Given the description of an element on the screen output the (x, y) to click on. 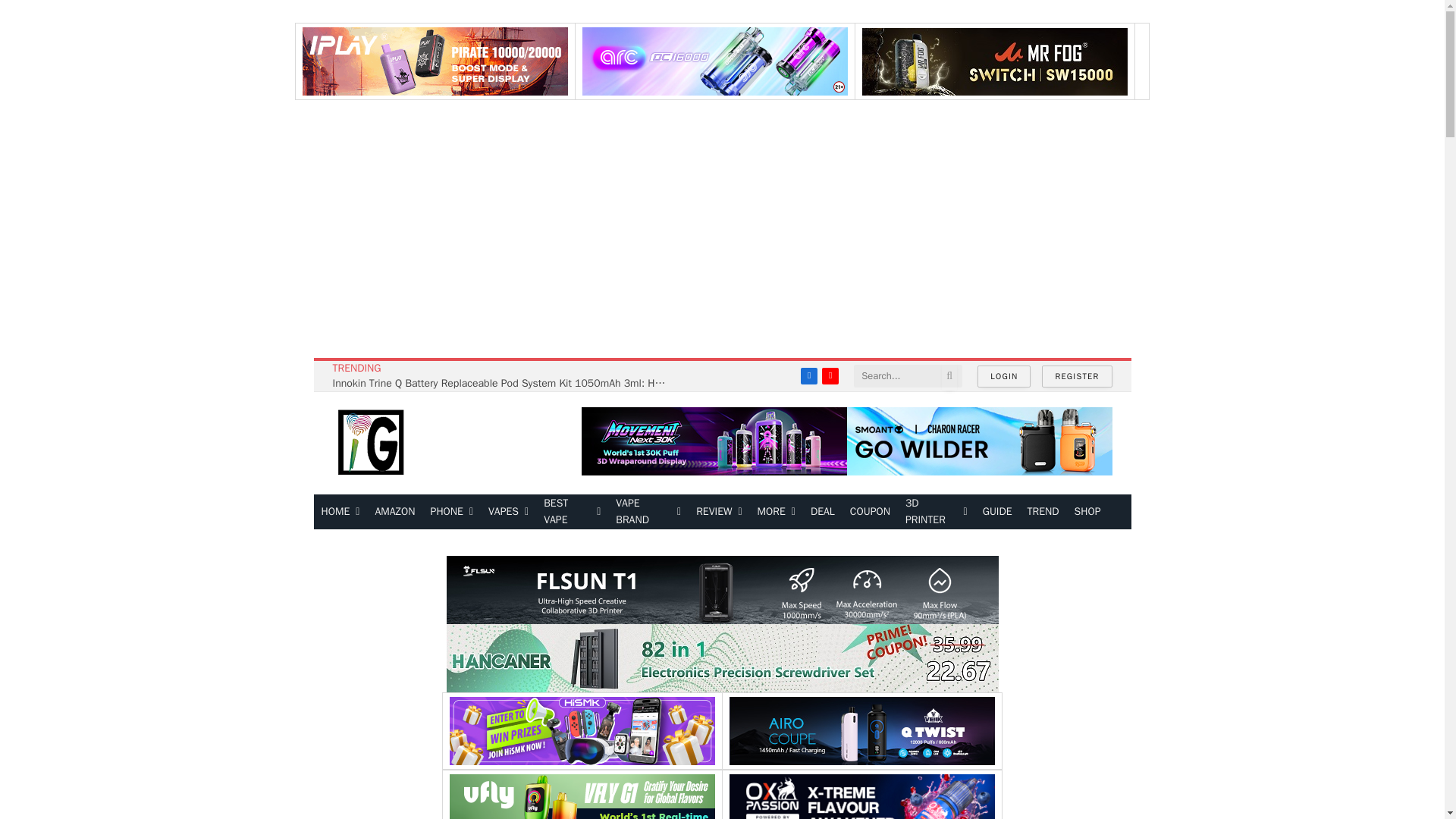
AMAZON (394, 511)
Facebook (808, 375)
YouTube (830, 375)
PHONE (451, 511)
HOME (341, 511)
REGISTER (1077, 376)
LOGIN (1003, 376)
